Given the description of an element on the screen output the (x, y) to click on. 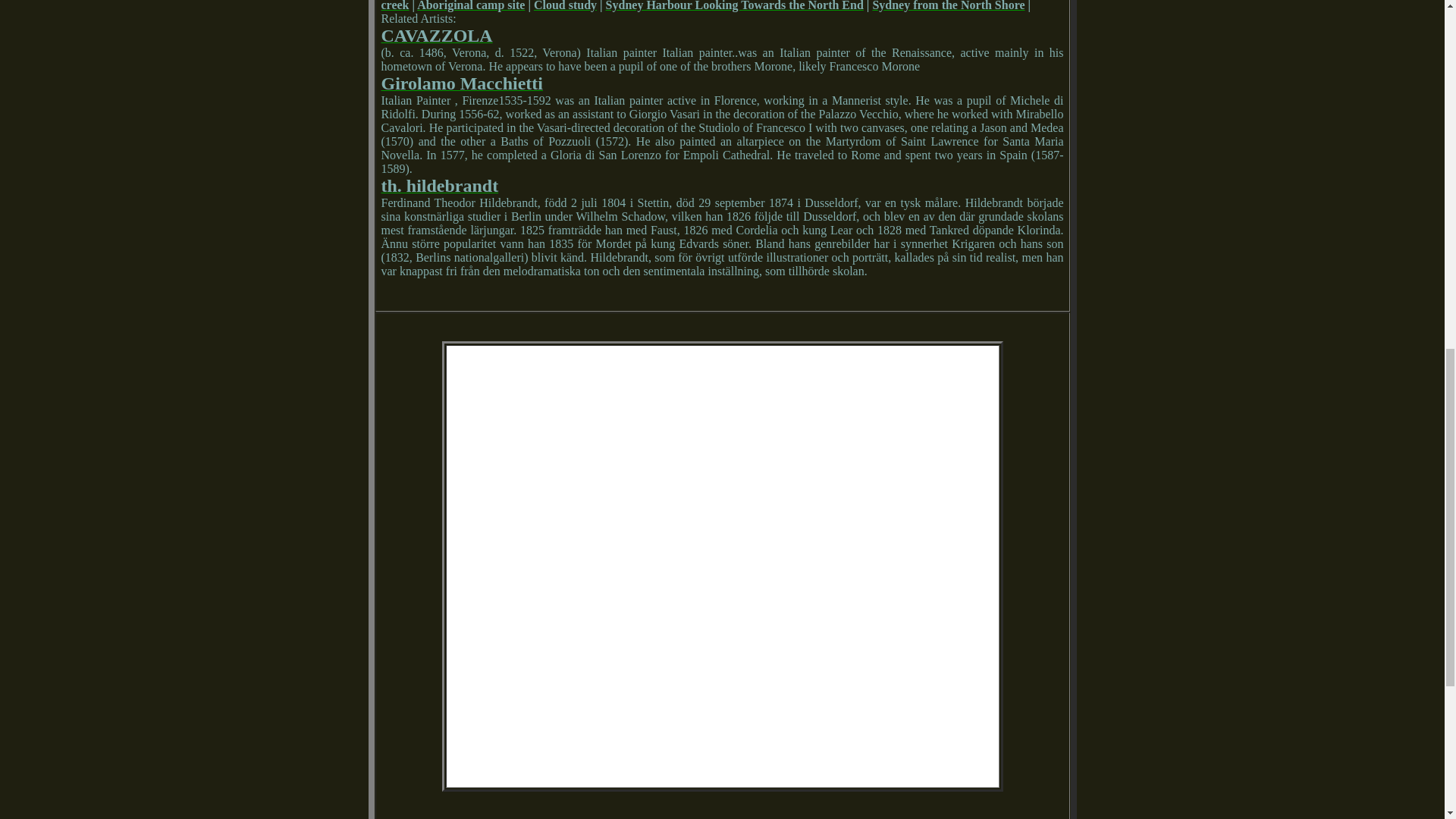
Girolamo Macchietti (461, 84)
Aboriginal camp site (470, 5)
th. hildebrandt (438, 187)
Cloud study (565, 5)
Australian Landscape with cattle and a stockman at a creek (721, 5)
CAVAZZOLA (436, 37)
Sydney Harbour Looking Towards the North End (734, 5)
Sydney from the North Shore (948, 5)
